Given the description of an element on the screen output the (x, y) to click on. 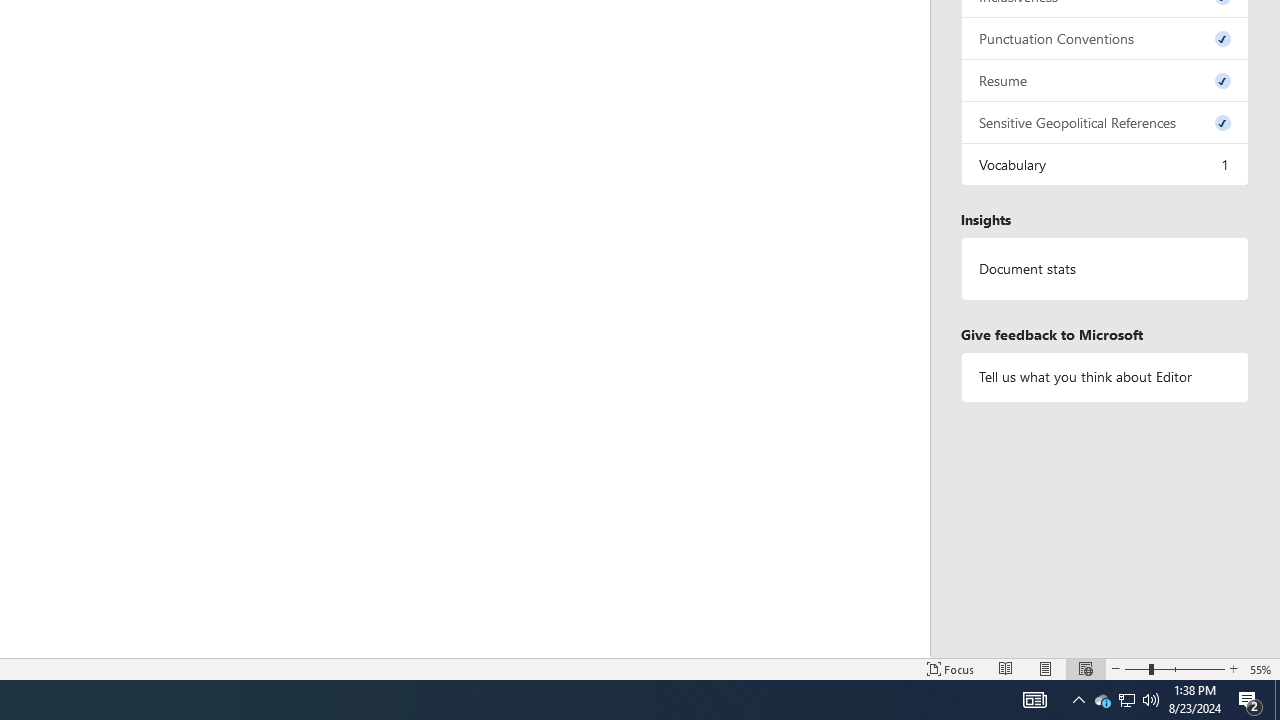
Tell us what you think about Editor (1105, 376)
Document statistics (1105, 269)
Resume, 0 issues. Press space or enter to review items. (1105, 79)
Zoom 55% (1261, 668)
Vocabulary, 1 issue. Press space or enter to review items. (1105, 164)
